Given the description of an element on the screen output the (x, y) to click on. 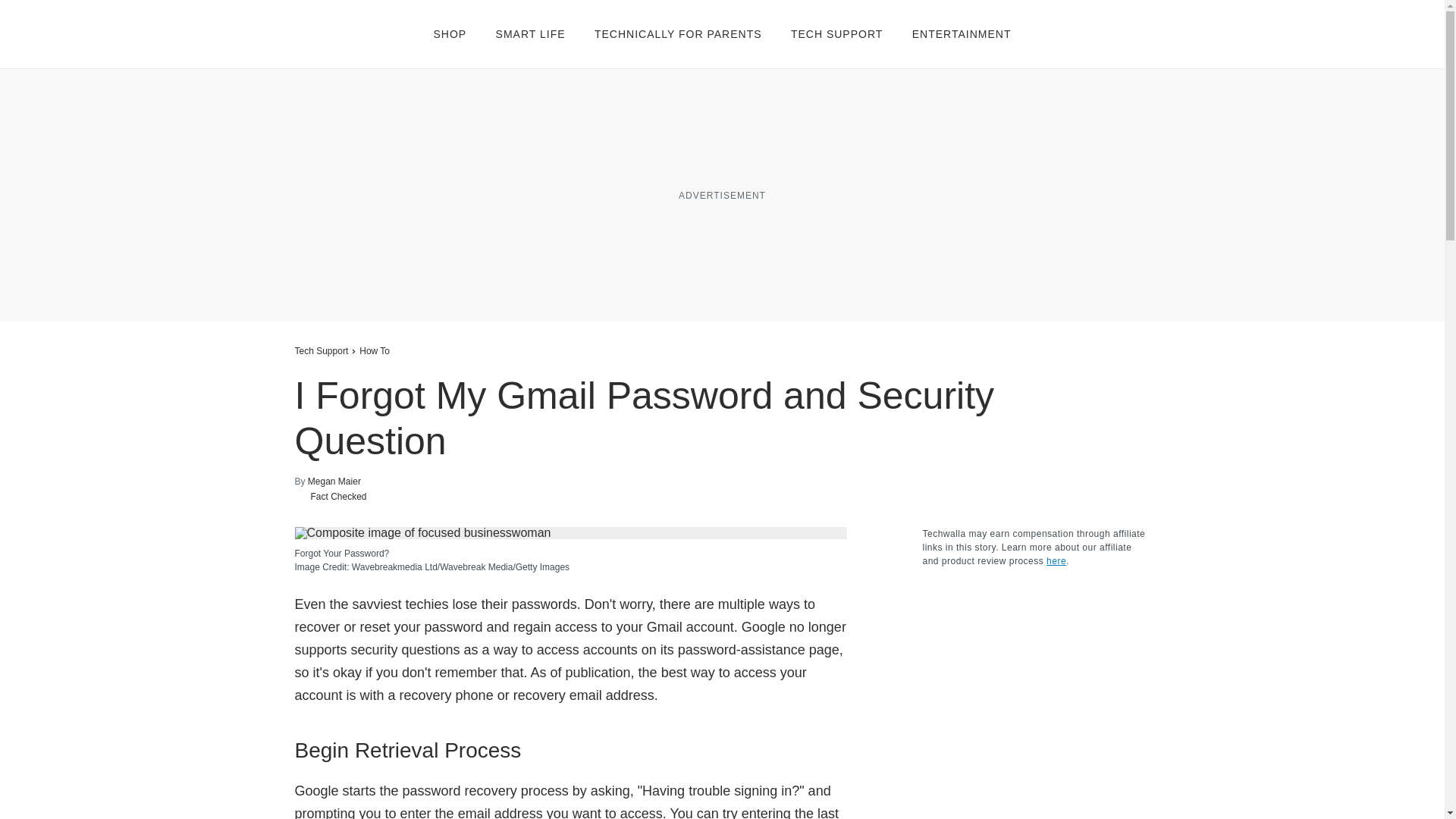
Tech Support (320, 350)
How To (374, 350)
Fact Checked (330, 496)
Learn more about our affiliate and product review process (1055, 561)
